Given the description of an element on the screen output the (x, y) to click on. 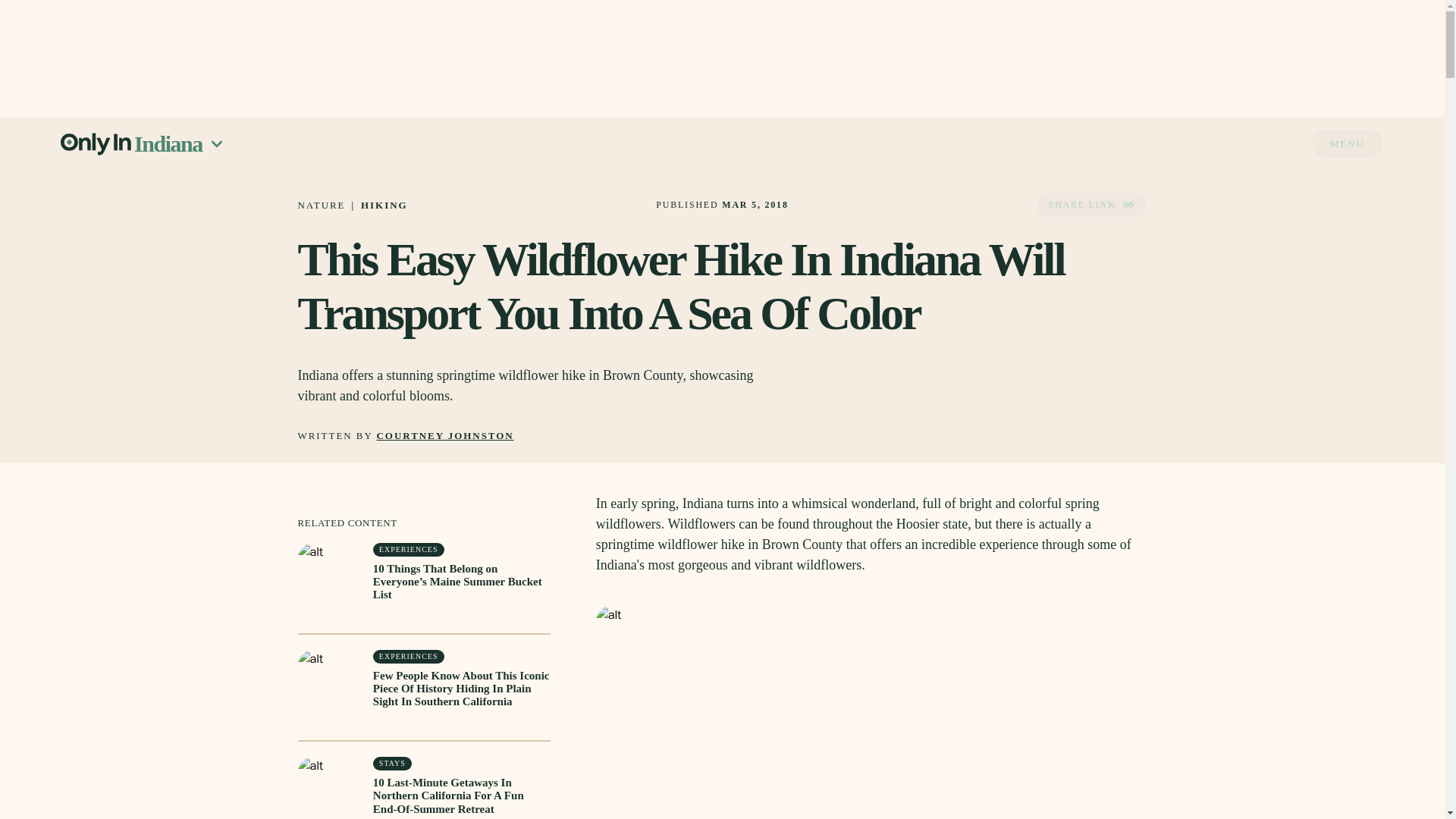
HIKING (384, 204)
MENU (1347, 143)
COURTNEY JOHNSTON (445, 436)
NATURE (321, 204)
SHARE LINK (1091, 204)
